Given the description of an element on the screen output the (x, y) to click on. 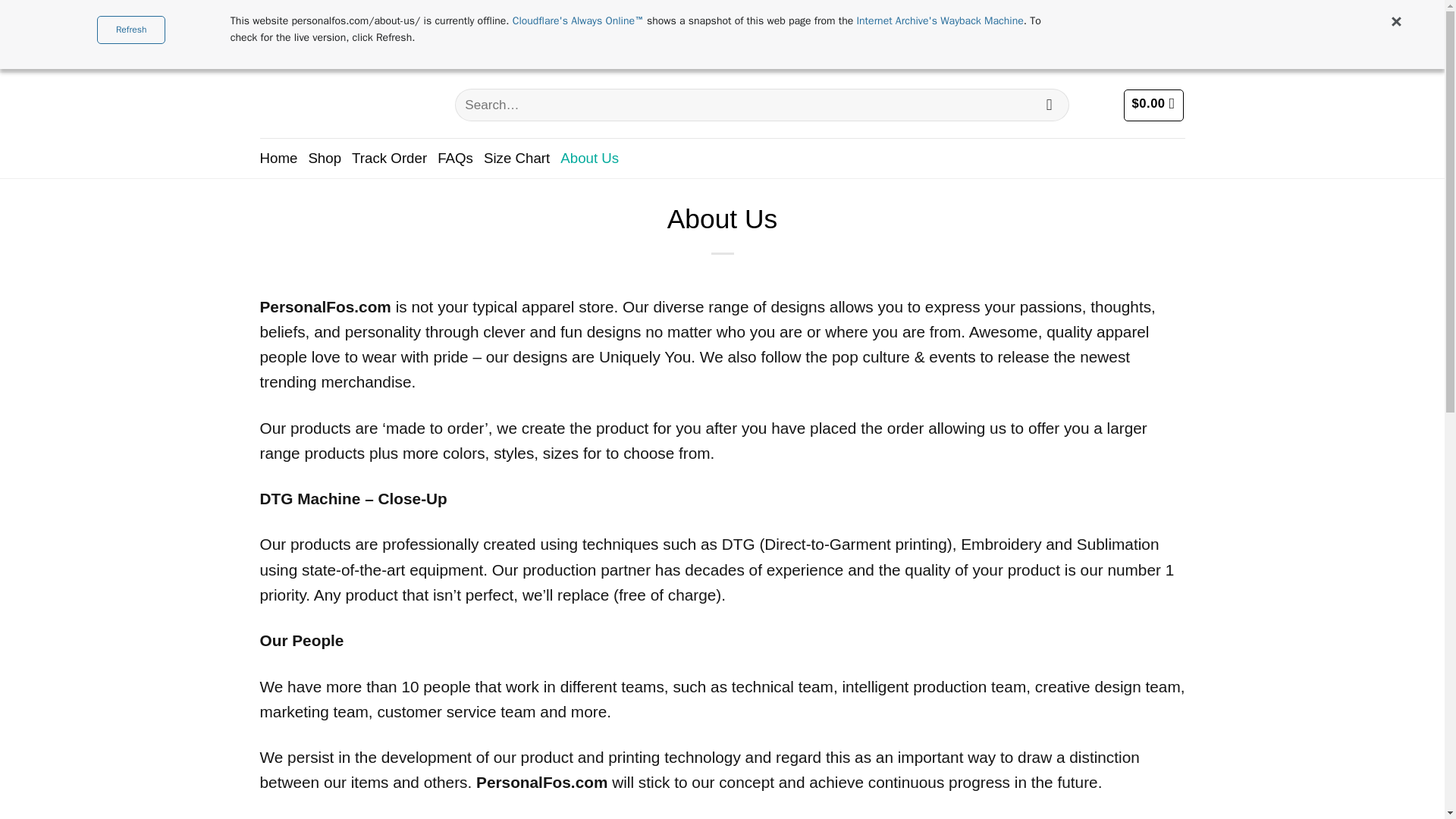
Size Chart (516, 158)
Refresh (131, 29)
About Us (589, 158)
Cart (1153, 105)
Internet Archive's Wayback Machine (939, 20)
Search (1048, 104)
Home (278, 158)
PersonalFos (344, 105)
Track Order (389, 158)
